Given the description of an element on the screen output the (x, y) to click on. 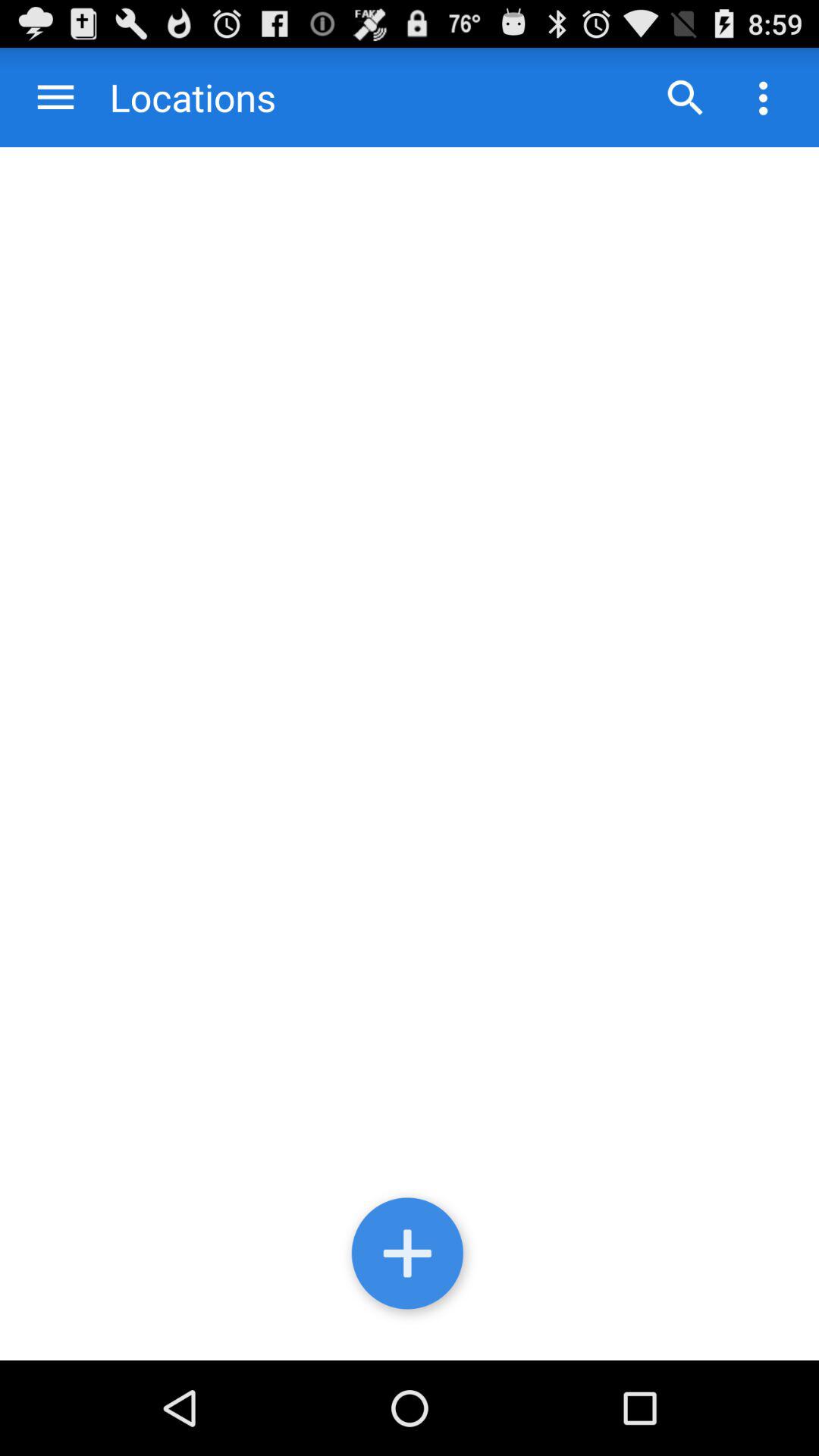
search (685, 97)
